Given the description of an element on the screen output the (x, y) to click on. 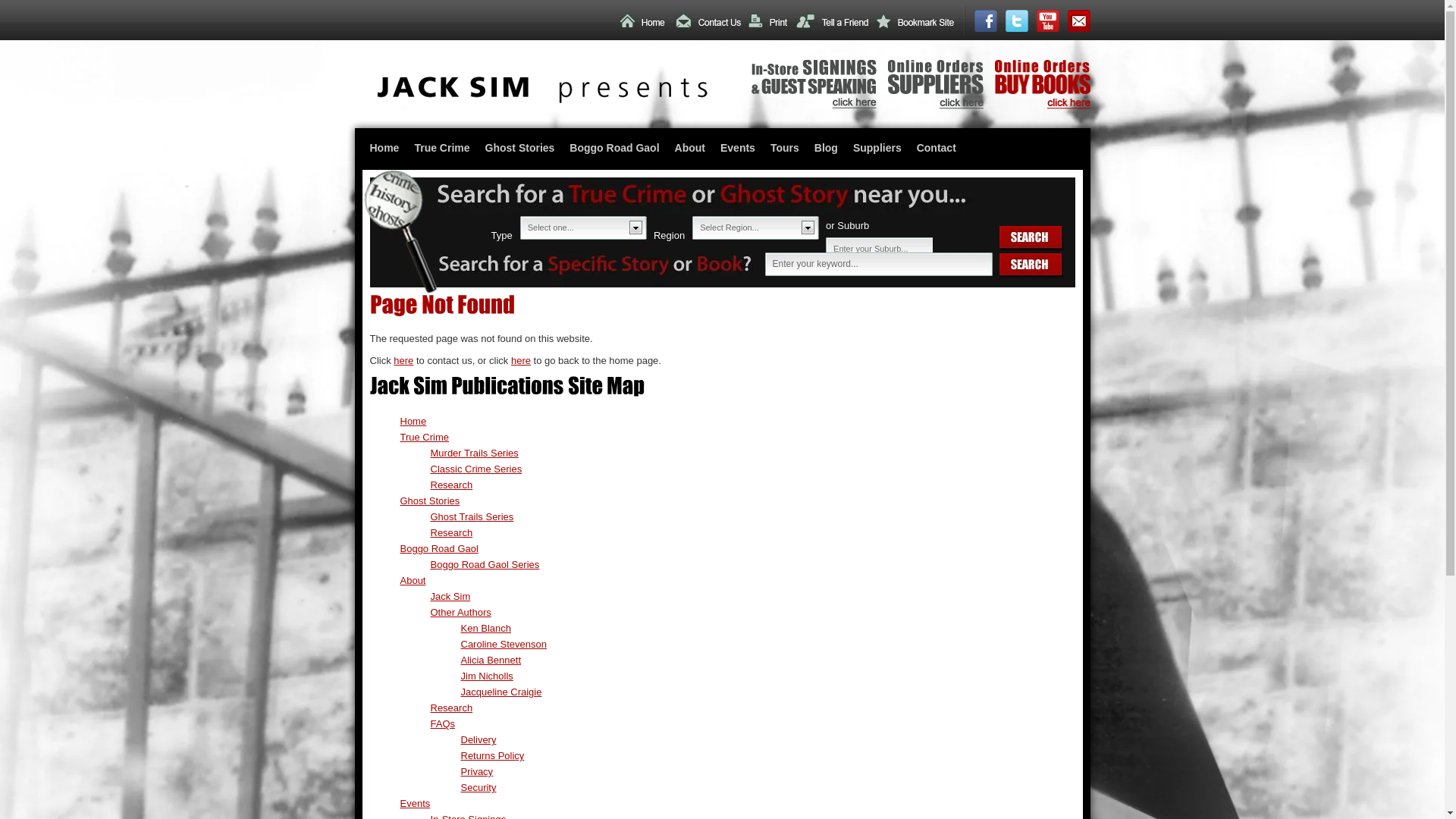
Research Element type: text (451, 484)
Jack Sim Element type: text (450, 596)
Contact Element type: text (936, 148)
Ghost Stories Element type: text (519, 148)
Classic Crime Series Element type: text (476, 468)
Tours Element type: text (784, 148)
In Store Signings & Guest Speaking Element type: hover (812, 104)
Security Element type: text (478, 787)
True Crime Element type: text (424, 436)
Ken Blanch Element type: text (486, 627)
Alicia Bennett Element type: text (491, 659)
Blog Element type: text (825, 148)
Research Element type: text (451, 707)
Other Authors Element type: text (460, 612)
Delivery Element type: text (478, 739)
Jacqueline Craigie Element type: text (501, 691)
Home Element type: text (384, 148)
Events Element type: text (737, 148)
here Element type: text (520, 360)
Online Orders Buy Books Element type: hover (1042, 105)
Returns Policy Element type: text (492, 755)
Search Element type: hover (1030, 265)
Murder Trails Series Element type: text (474, 452)
Search Element type: text (1031, 238)
Events Element type: text (415, 803)
Privacy Element type: text (477, 771)
About Element type: text (689, 148)
Suppliers Element type: text (877, 148)
Caroline Stevenson Element type: text (503, 643)
About Element type: text (413, 580)
Boggo Road Gaol Series Element type: text (484, 564)
here Element type: text (403, 360)
Ghost Trails Series Element type: text (472, 516)
Online Orders Suppliers Element type: hover (934, 105)
Jack Sim Presents Element type: hover (542, 99)
Home Element type: text (413, 420)
Jim Nicholls Element type: text (487, 675)
Boggo Road Gaol Element type: text (613, 148)
Research Element type: text (451, 532)
True Crime Element type: text (441, 148)
Boggo Road Gaol Element type: text (439, 548)
FAQs Element type: text (442, 723)
Ghost Stories Element type: text (430, 500)
